Given the description of an element on the screen output the (x, y) to click on. 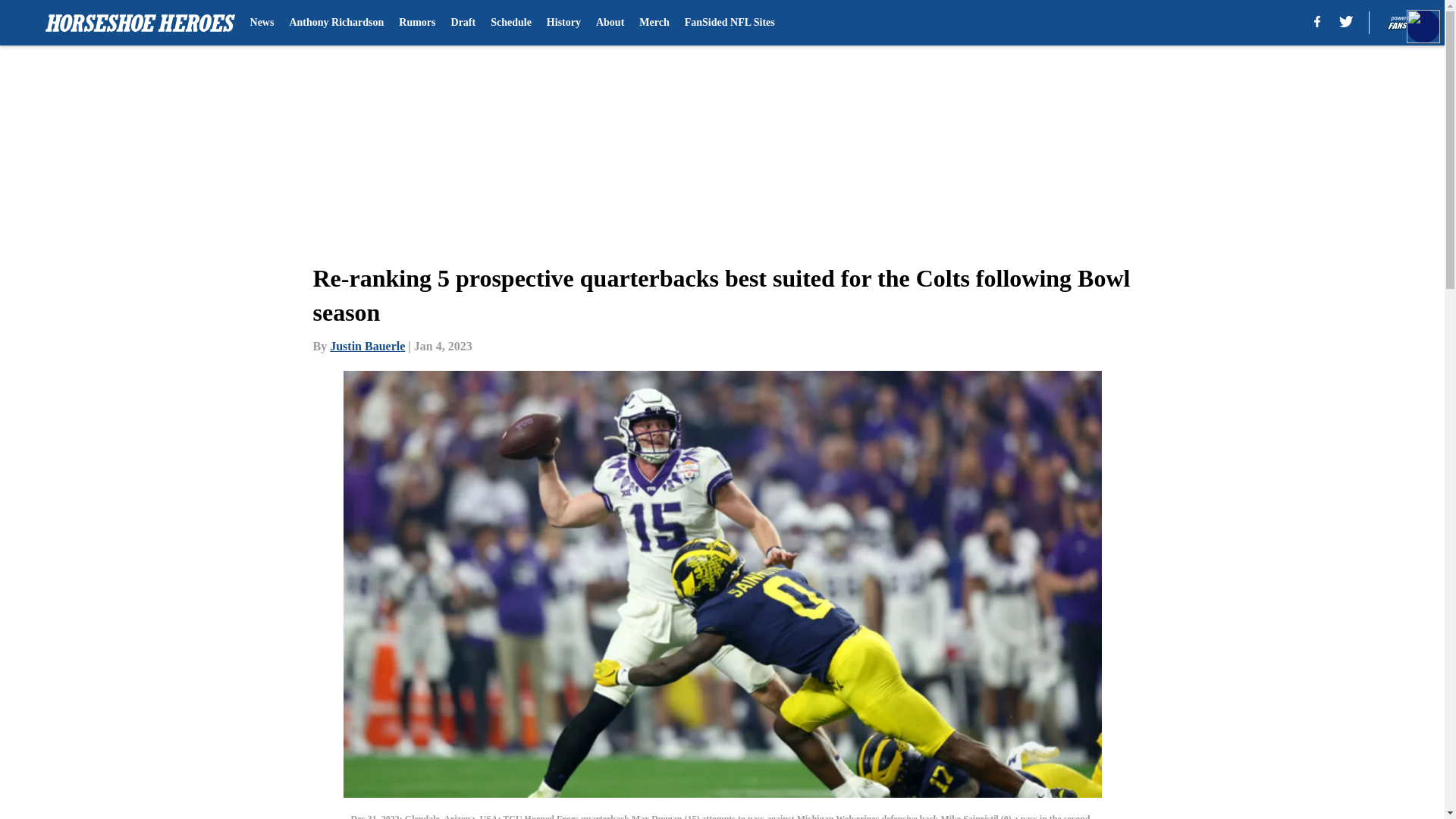
FanSided NFL Sites (729, 22)
Justin Bauerle (367, 345)
Merch (653, 22)
Draft (463, 22)
History (563, 22)
About (609, 22)
Anthony Richardson (336, 22)
Schedule (510, 22)
Rumors (416, 22)
Accessibility Menu (1422, 26)
